Given the description of an element on the screen output the (x, y) to click on. 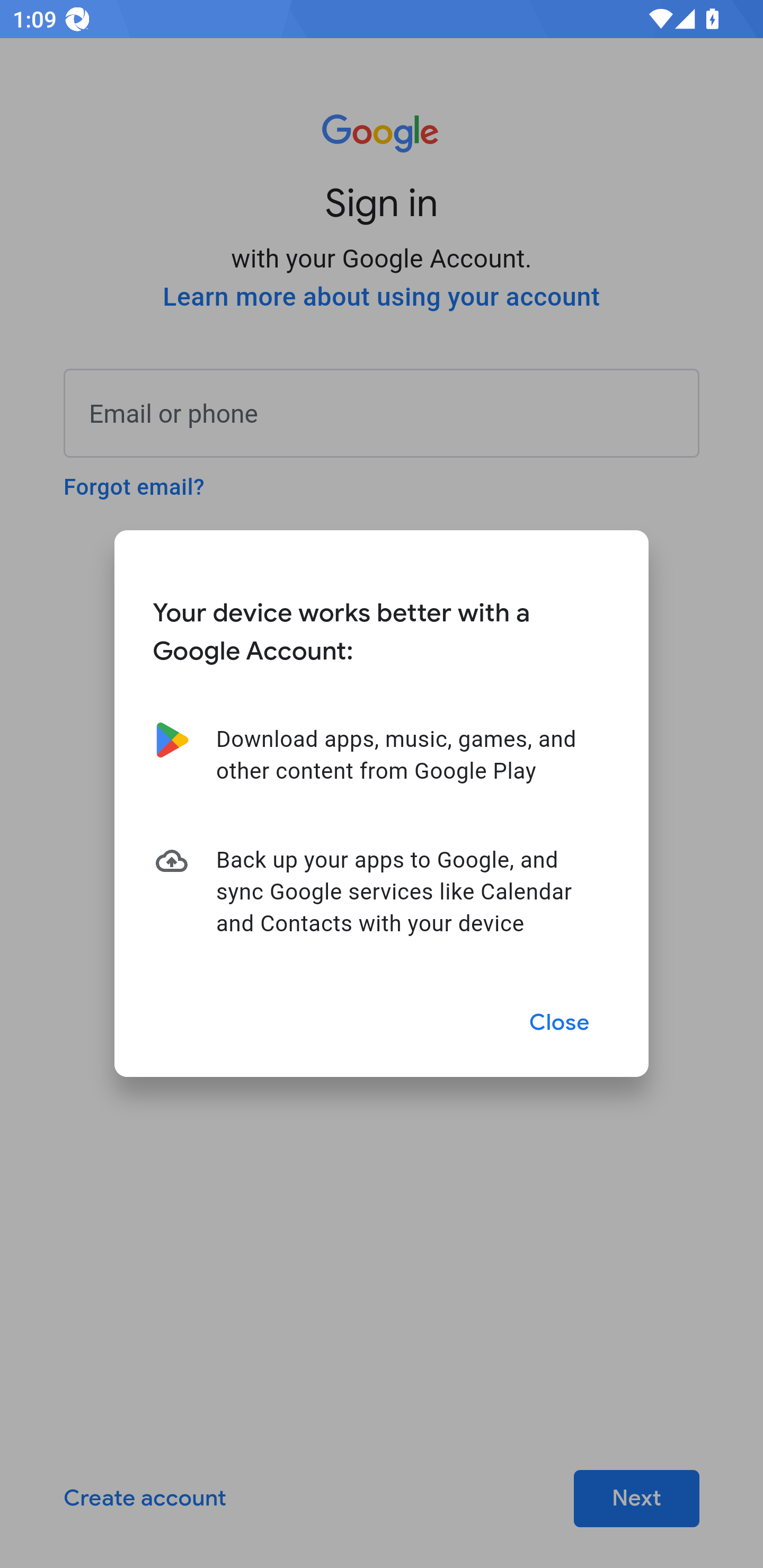
Close (559, 1022)
